Given the description of an element on the screen output the (x, y) to click on. 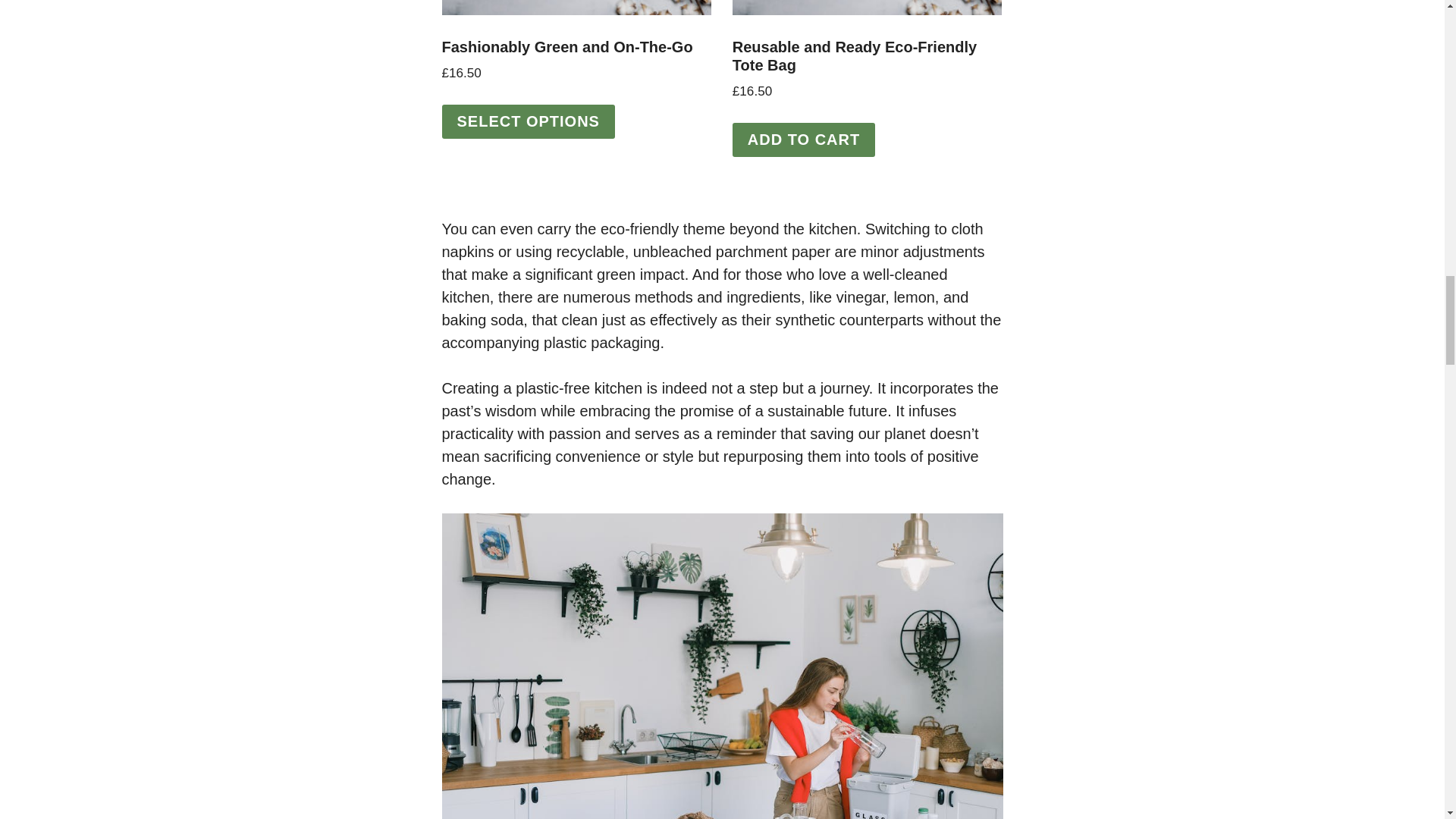
ADD TO CART (803, 139)
SELECT OPTIONS (527, 121)
